Given the description of an element on the screen output the (x, y) to click on. 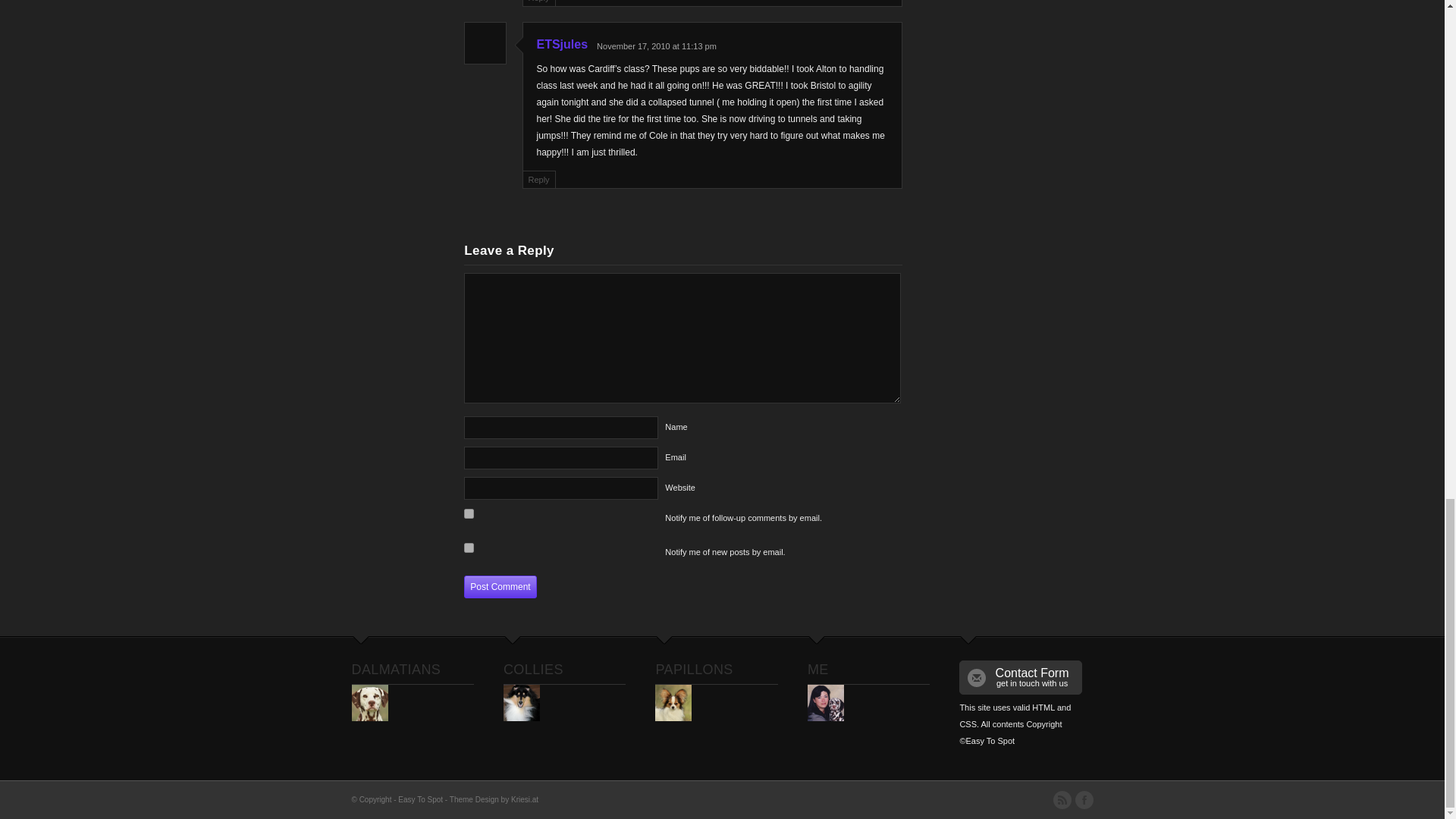
Post Comment (499, 586)
subscribe (469, 547)
subscribe (469, 513)
